Given the description of an element on the screen output the (x, y) to click on. 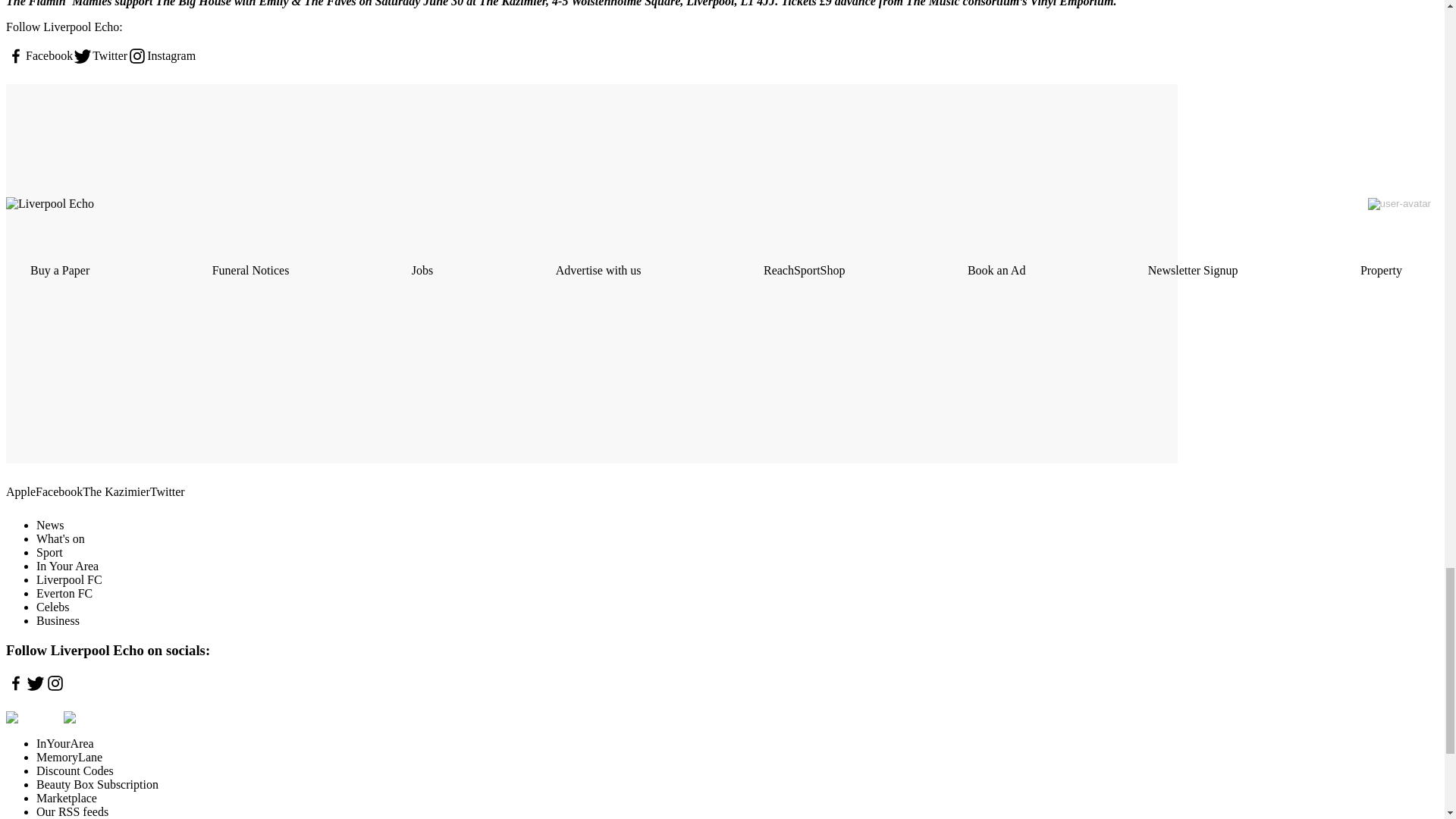
News (50, 524)
Liverpool FC (68, 579)
What's on (60, 538)
Everton FC (64, 593)
Celebs (52, 606)
Twitter (166, 491)
Facebook (38, 55)
The Kazimier (115, 491)
Twitter (100, 55)
Apple (19, 491)
